Given the description of an element on the screen output the (x, y) to click on. 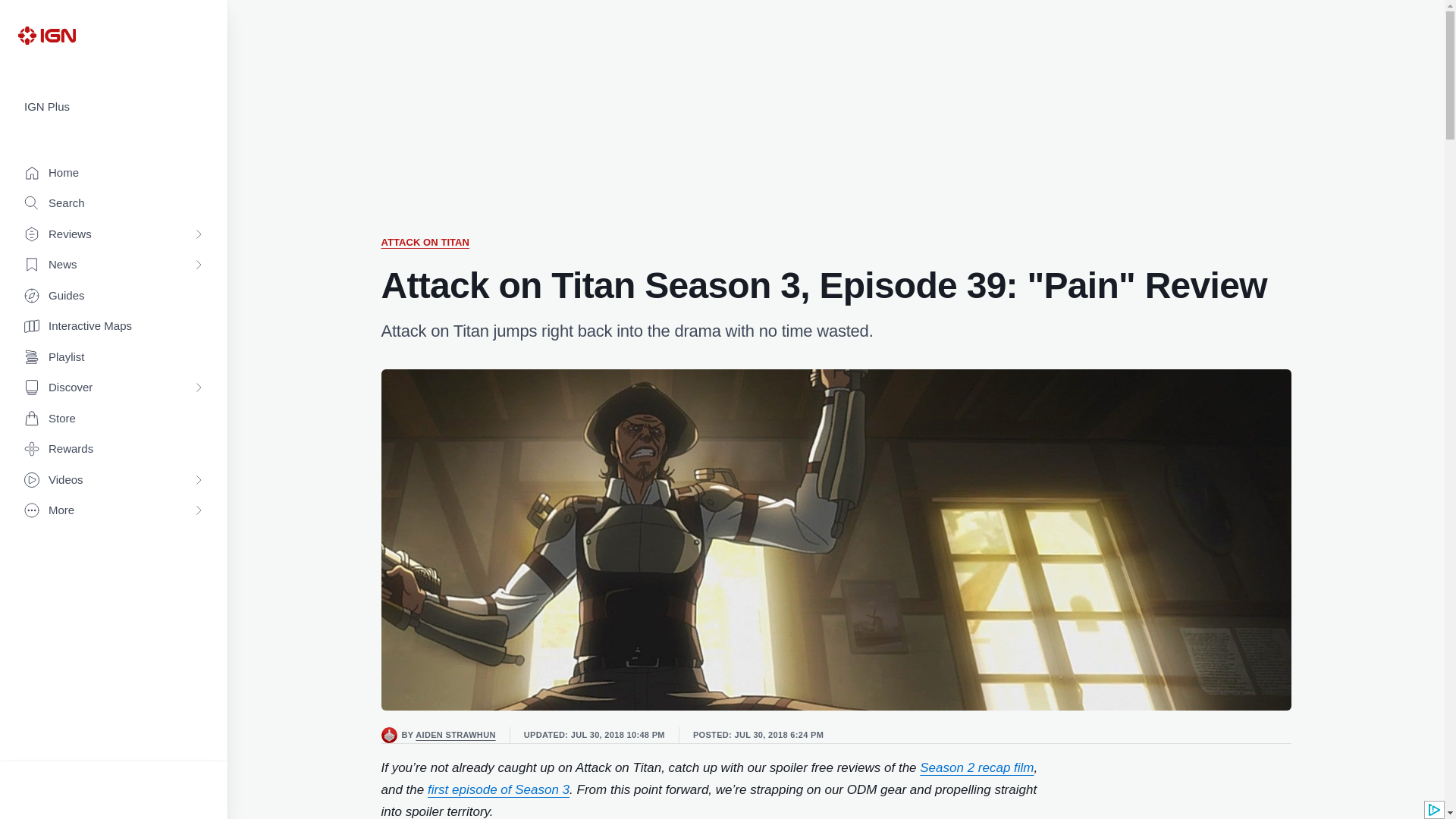
Rewards (113, 449)
IGN Plus (113, 107)
Store (113, 418)
Home (113, 172)
Reviews (113, 234)
News (113, 265)
Discover (113, 387)
More (113, 510)
Interactive Maps (113, 326)
IGN Logo (46, 35)
